Given the description of an element on the screen output the (x, y) to click on. 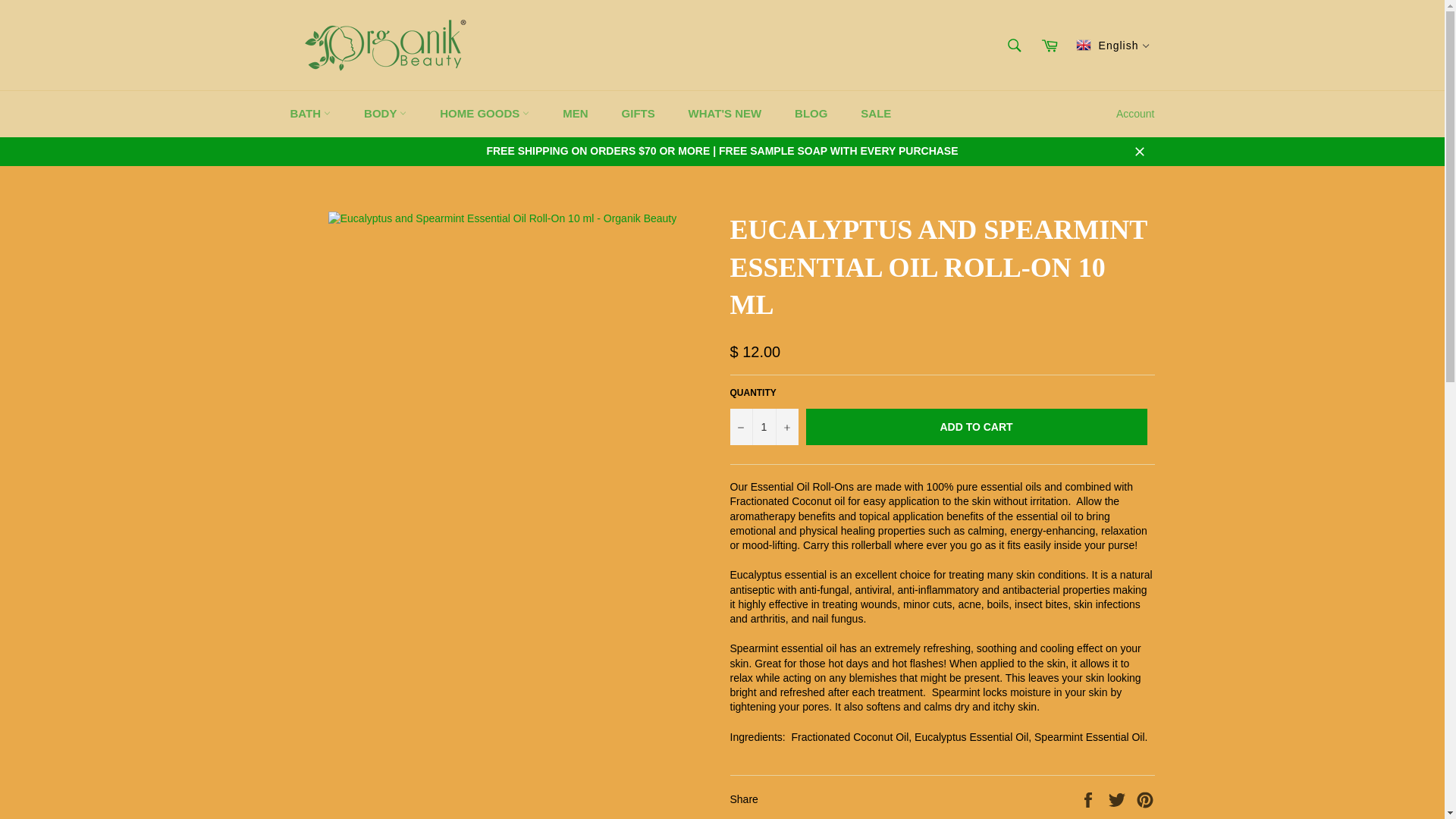
Share on Facebook (1089, 799)
Cart (1049, 44)
Tweet on Twitter (1118, 799)
1 (763, 426)
Pin on Pinterest (1144, 799)
Search (1014, 44)
BATH (310, 113)
